Given the description of an element on the screen output the (x, y) to click on. 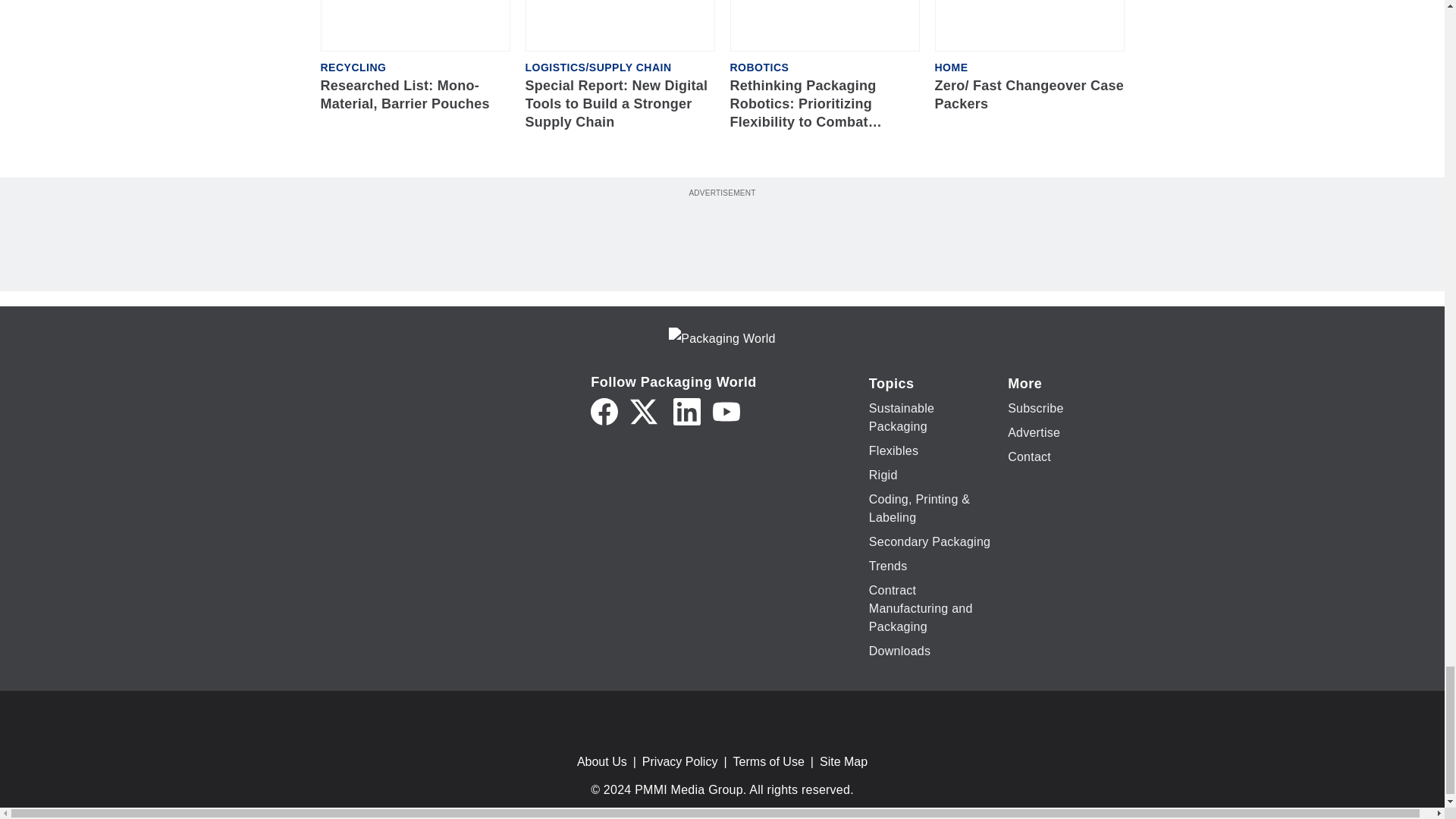
Facebook icon (604, 411)
LinkedIn icon (686, 411)
Twitter X icon (644, 411)
YouTube icon (726, 411)
